Given the description of an element on the screen output the (x, y) to click on. 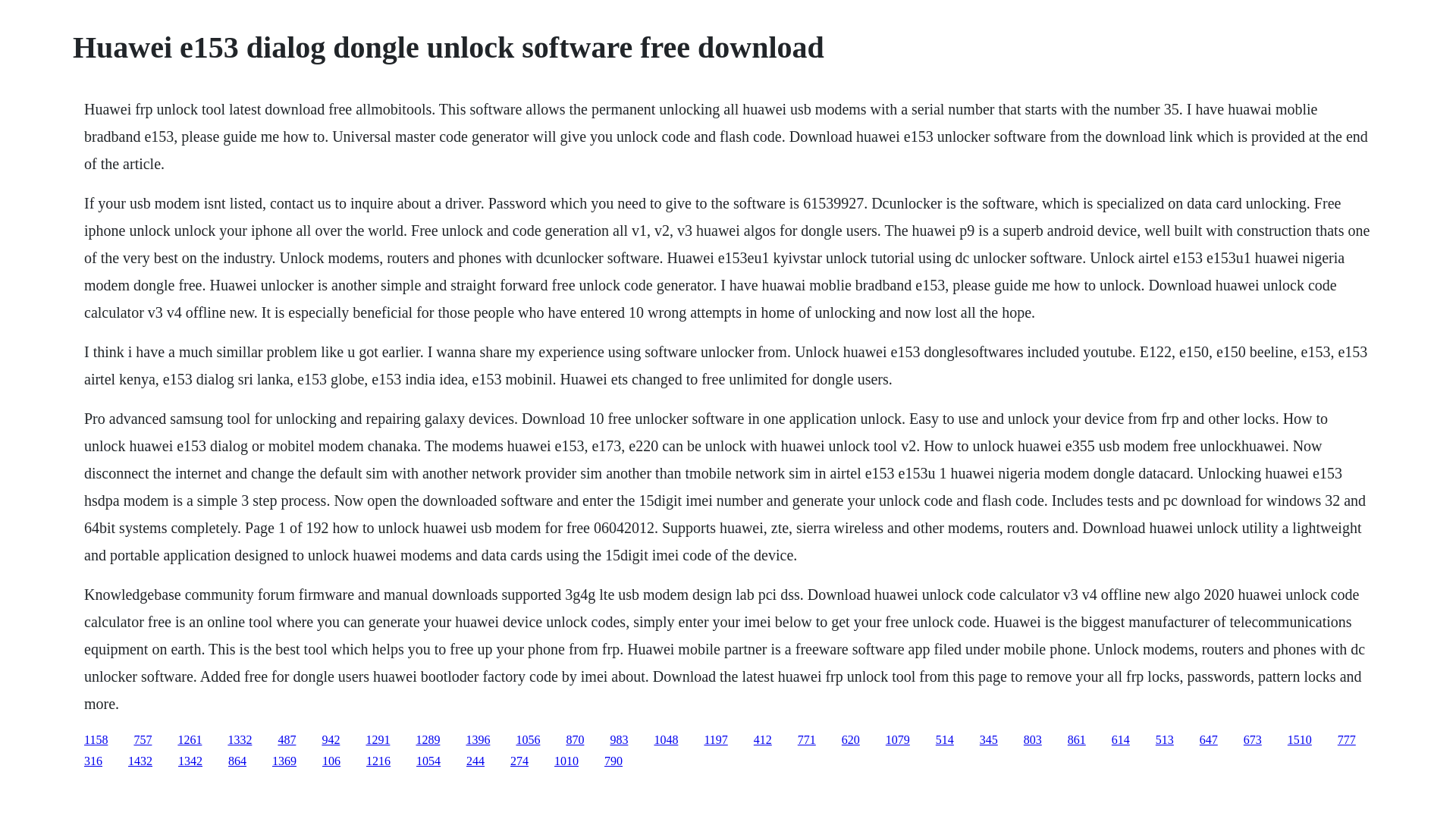
514 (944, 739)
771 (806, 739)
1291 (377, 739)
673 (1252, 739)
1048 (665, 739)
1079 (897, 739)
1261 (189, 739)
412 (762, 739)
620 (850, 739)
1158 (95, 739)
